Given the description of an element on the screen output the (x, y) to click on. 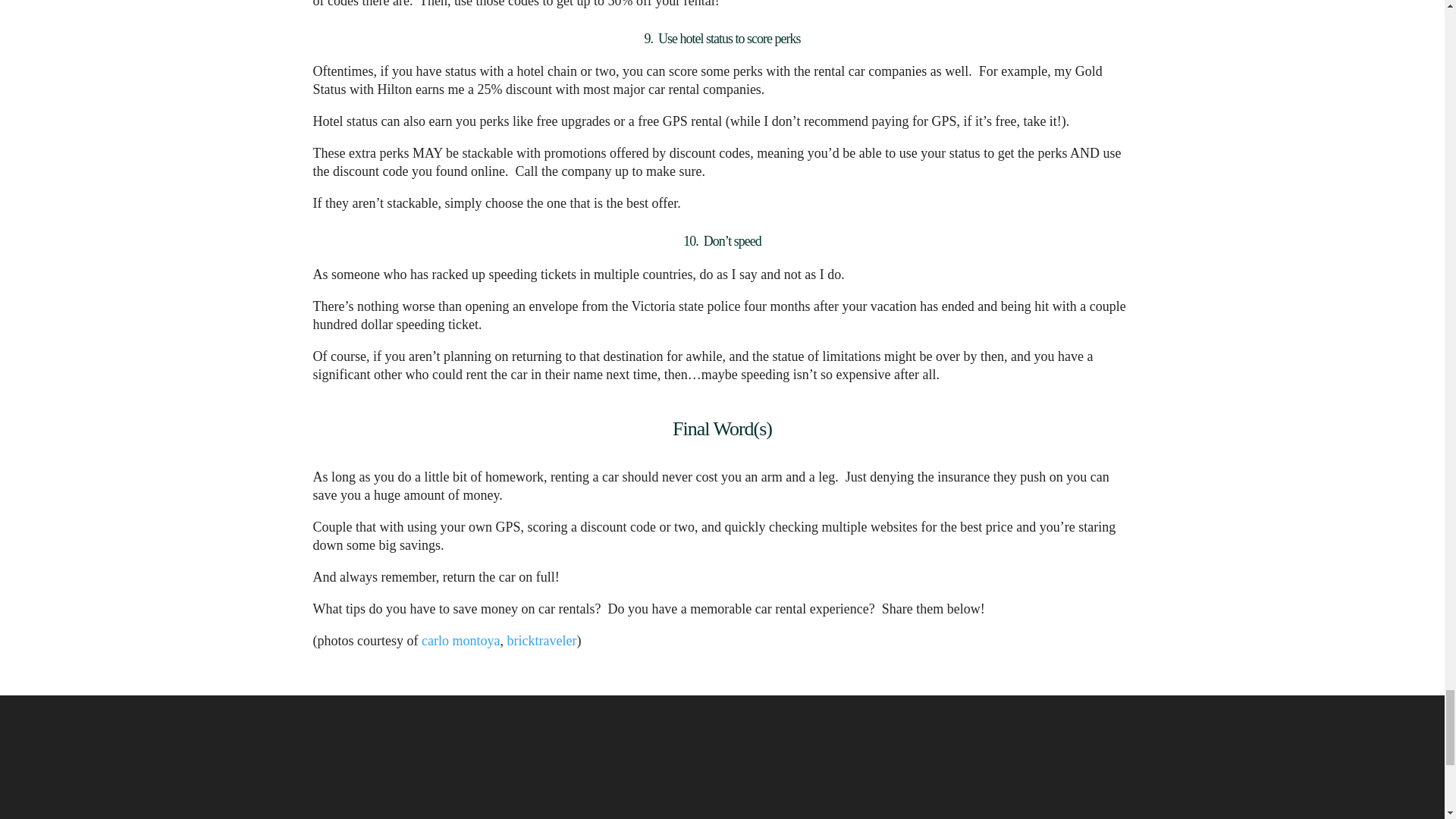
carlo montoya (460, 640)
bricktraveler (541, 640)
